Given the description of an element on the screen output the (x, y) to click on. 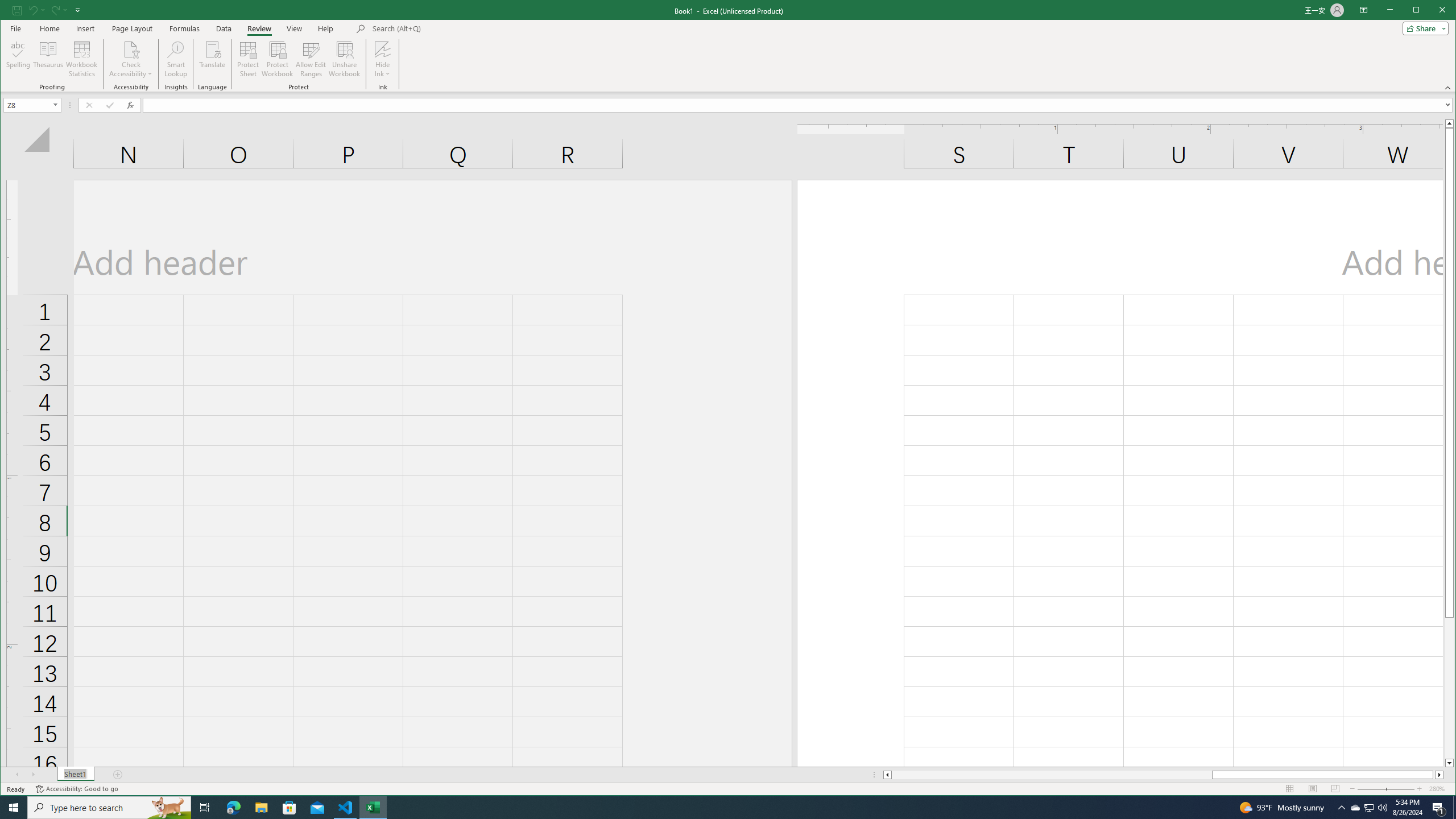
Thesaurus... (48, 59)
Type here to search (108, 807)
User Promoted Notification Area (1368, 807)
Notification Chevron (1341, 807)
